Given the description of an element on the screen output the (x, y) to click on. 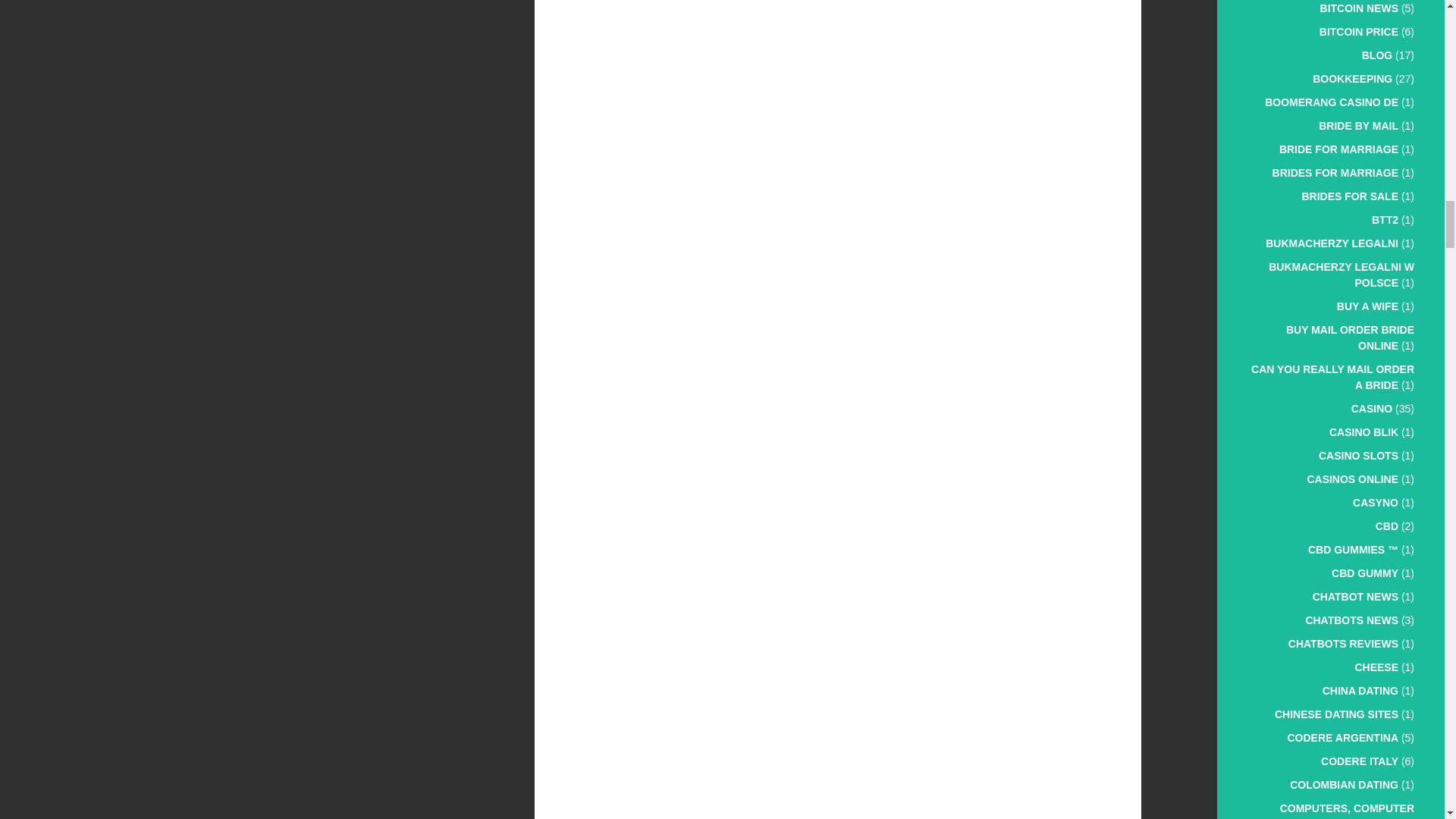
Computers, Computer Certification (1346, 810)
